Given the description of an element on the screen output the (x, y) to click on. 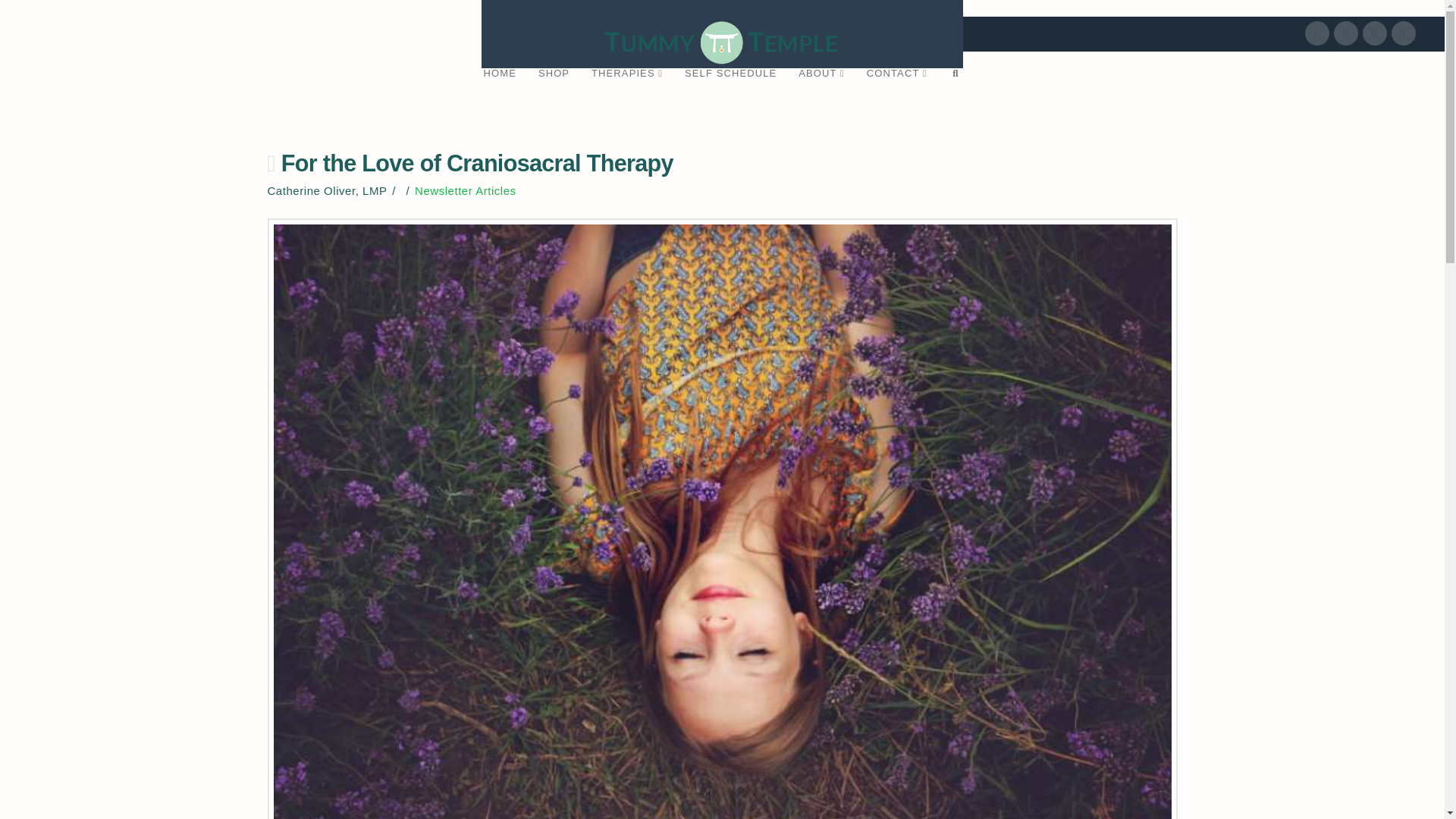
YouTube (1374, 33)
ABOUT (821, 90)
THERAPIES (625, 90)
HOME (499, 90)
Instagram (1403, 33)
SELF SCHEDULE (729, 90)
SHOP (553, 90)
Facebook (1316, 33)
